Given the description of an element on the screen output the (x, y) to click on. 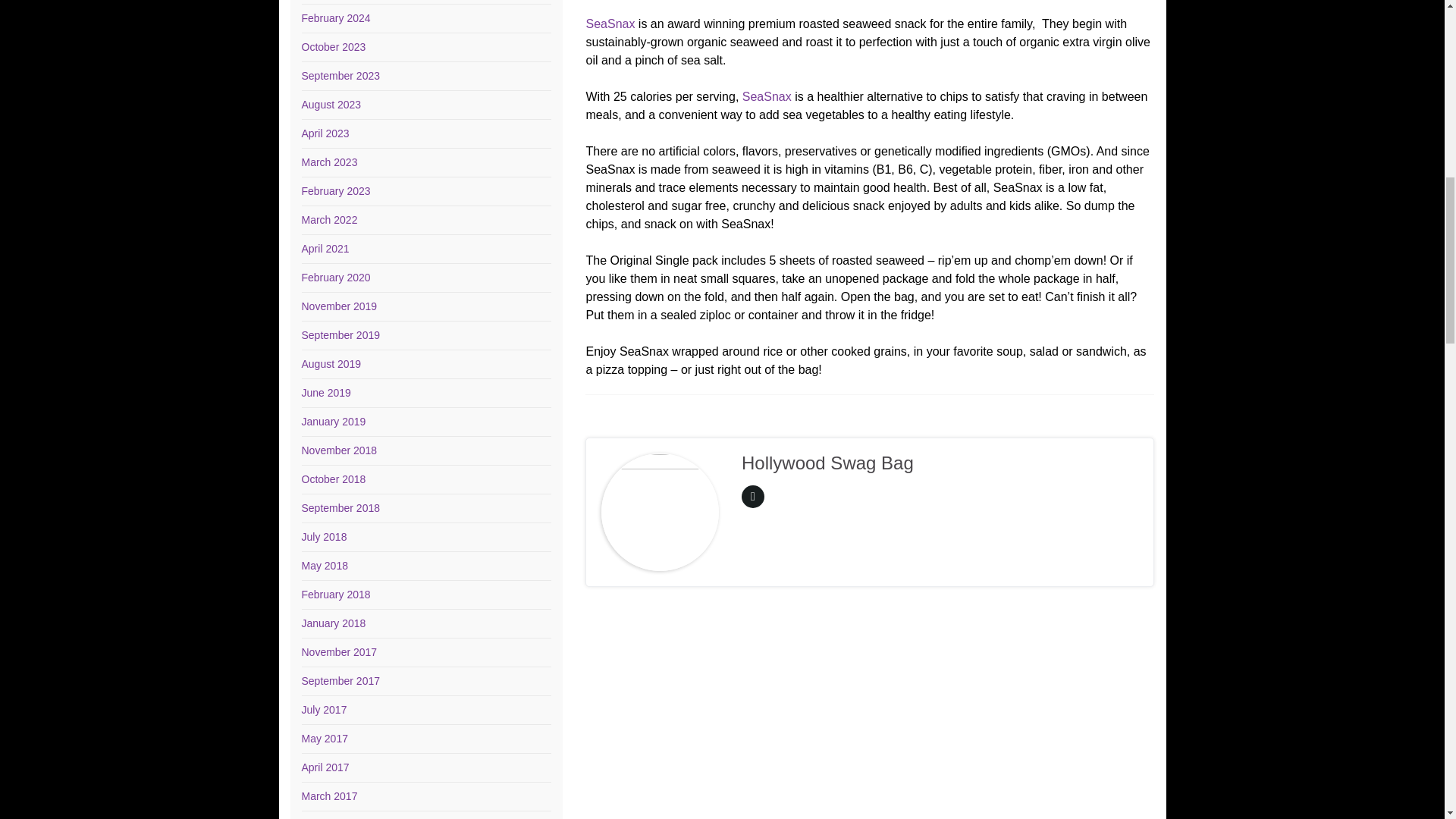
February 2023 (336, 191)
October 2023 (333, 46)
August 2023 (331, 104)
SeaSnax (609, 23)
February 2024 (336, 18)
September 2023 (340, 75)
March 2023 (329, 162)
SeaSnax (767, 96)
March 2022 (329, 219)
April 2023 (325, 133)
